Given the description of an element on the screen output the (x, y) to click on. 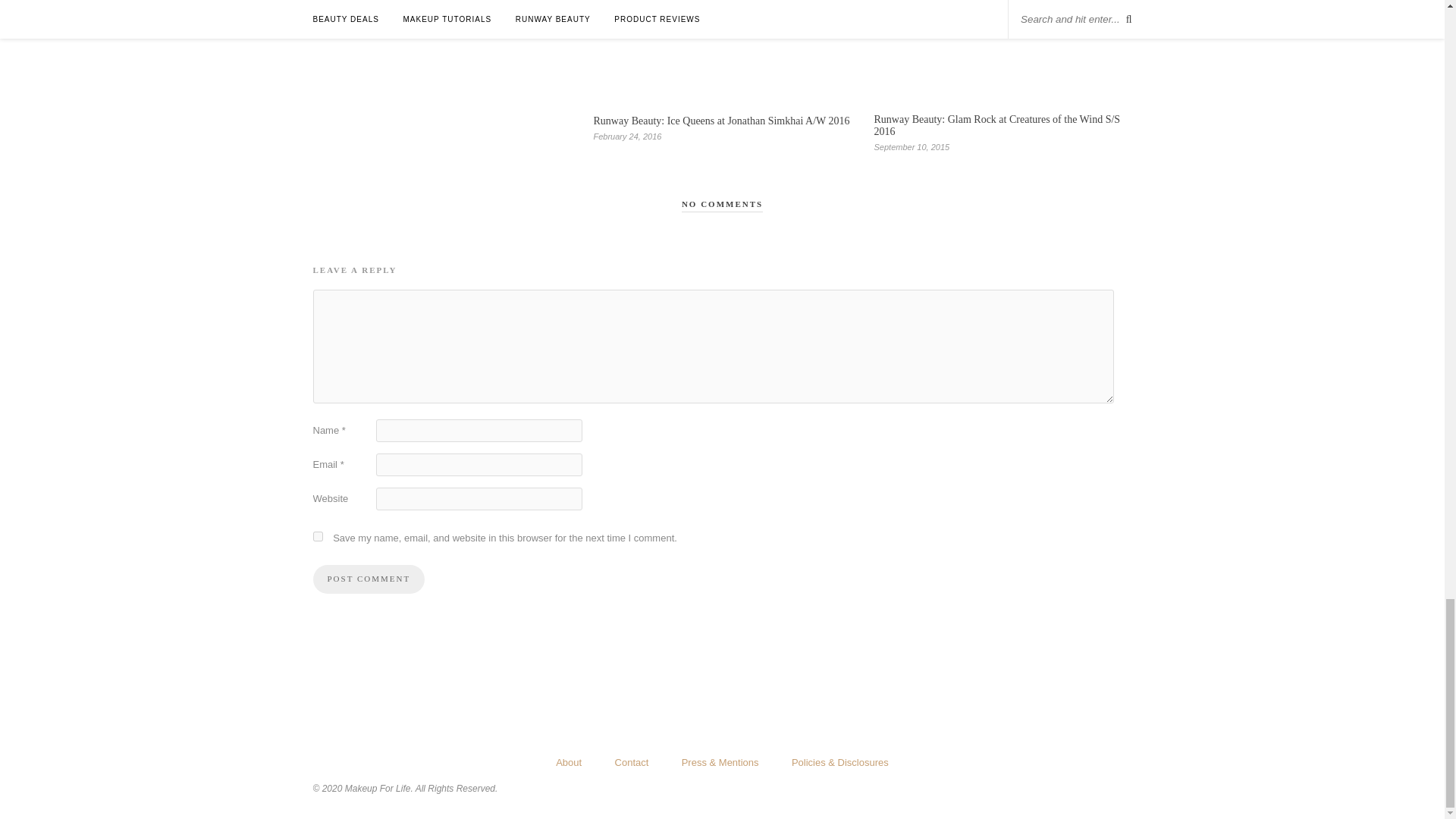
About (568, 762)
Post Comment (369, 579)
yes (317, 536)
Post Comment (369, 579)
Contact (631, 762)
